Given the description of an element on the screen output the (x, y) to click on. 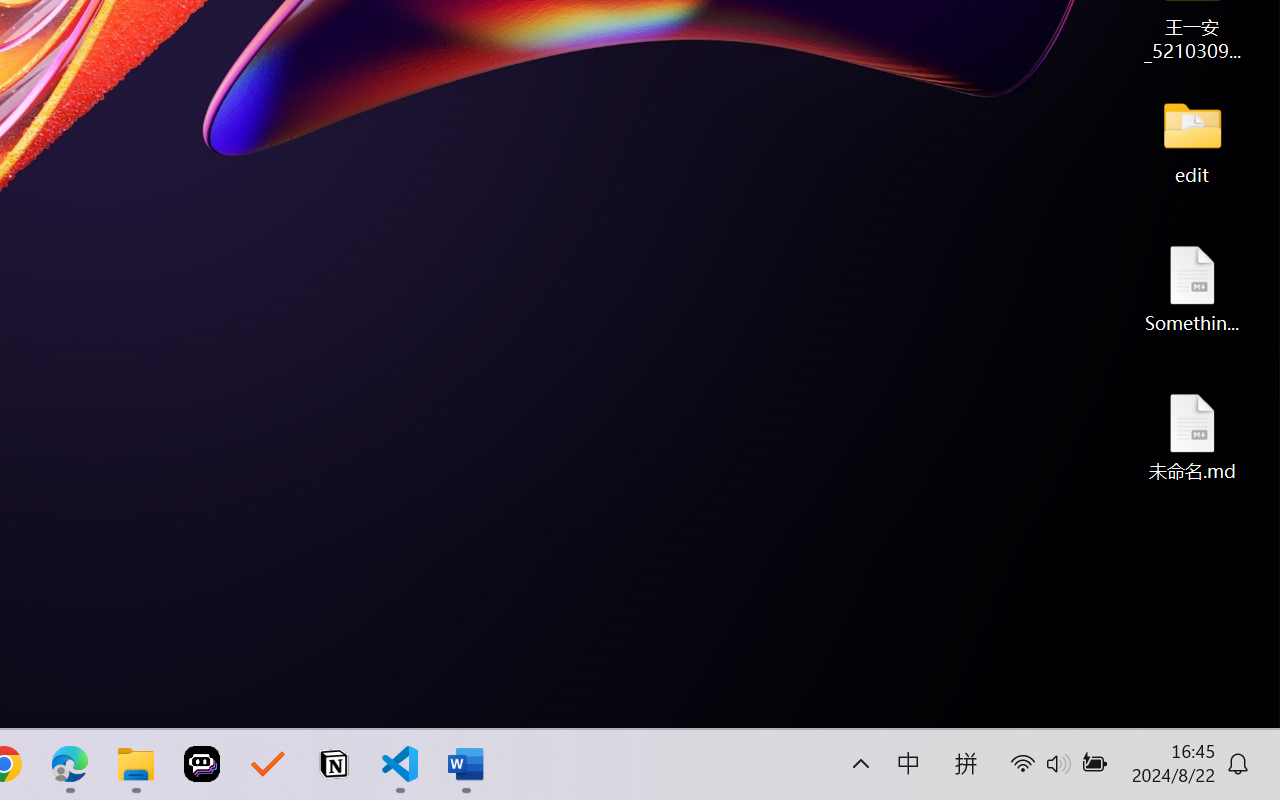
edit (1192, 140)
Something.md (1192, 288)
